Given the description of an element on the screen output the (x, y) to click on. 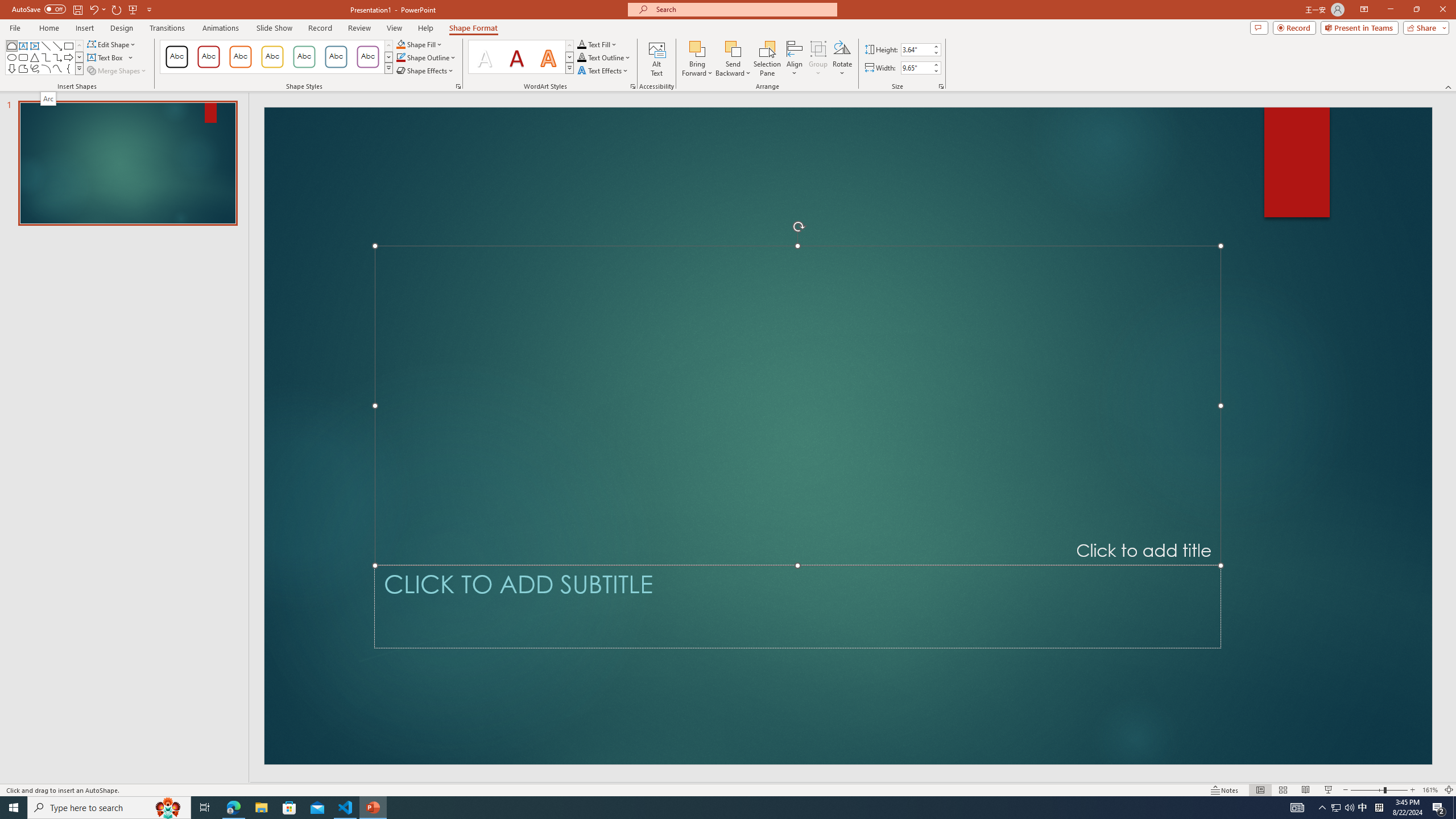
Colored Outline - Orange, Accent 2 (240, 56)
Size and Position... (941, 85)
Format Text Effects... (632, 85)
Colored Outline - Green, Accent 4 (304, 56)
Text Effects (603, 69)
Rotate (841, 58)
